Given the description of an element on the screen output the (x, y) to click on. 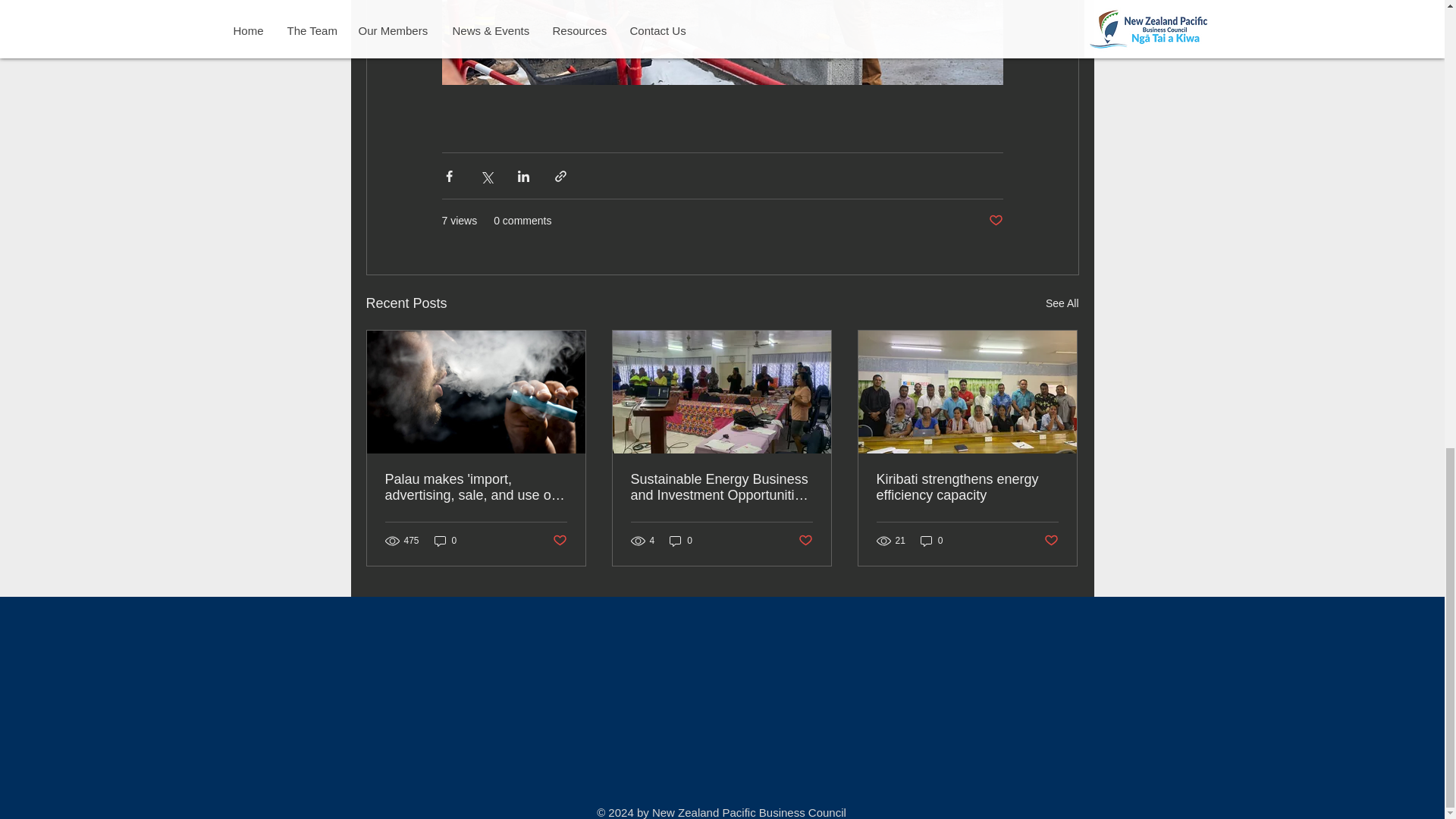
0 (445, 540)
See All (1061, 303)
Post not marked as liked (558, 540)
Post not marked as liked (995, 220)
